Given the description of an element on the screen output the (x, y) to click on. 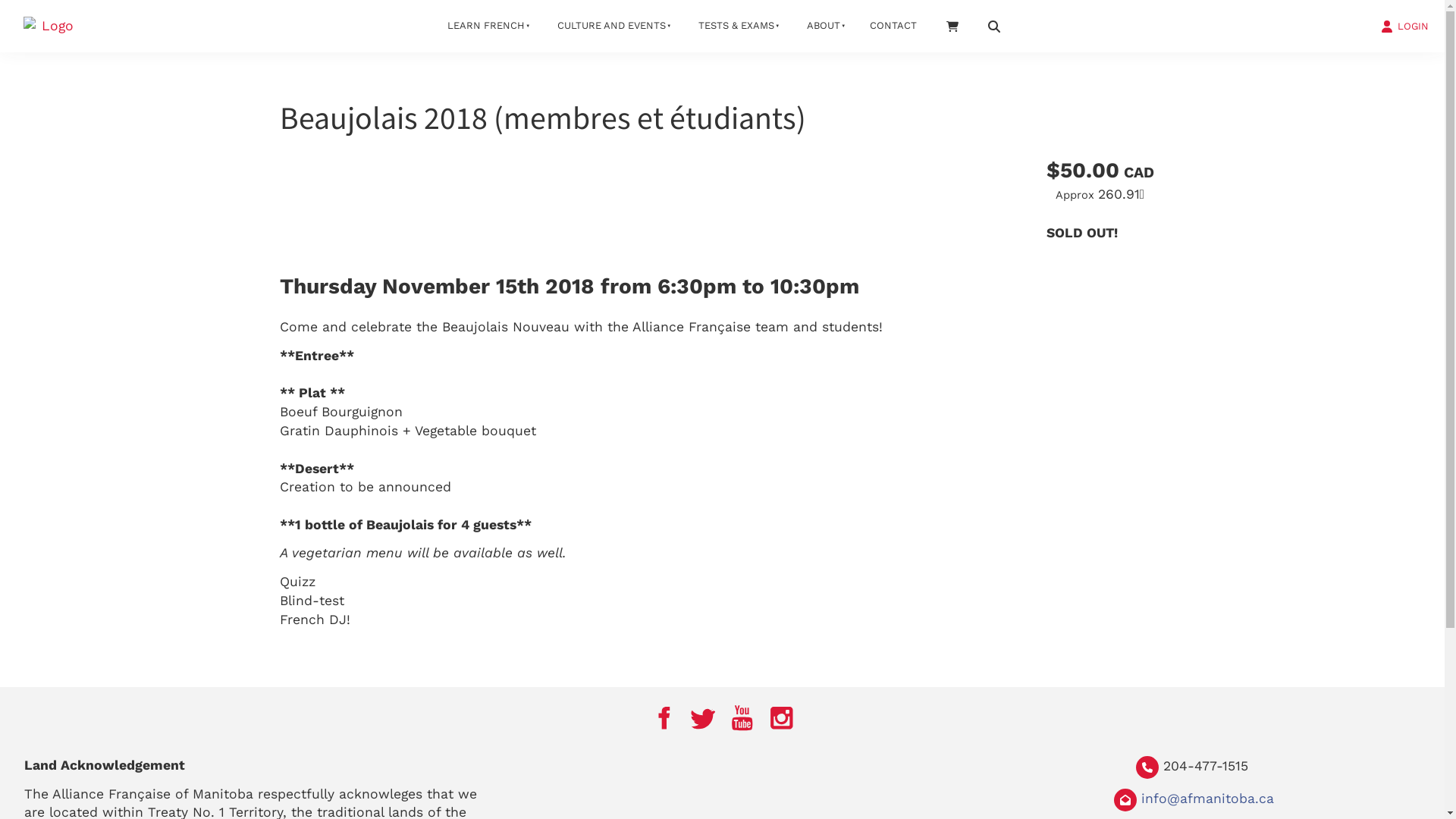
Youtube Element type: hover (742, 718)
ABOUT Element type: text (821, 25)
Instagram Element type: hover (781, 718)
Twitter Element type: hover (702, 718)
Facebook Element type: hover (663, 718)
info@afmanitoba.ca Element type: text (1207, 798)
LOGIN Element type: text (1404, 24)
CULTURE AND EVENTS Element type: text (609, 25)
TESTS & EXAMS Element type: text (734, 25)
LEARN FRENCH Element type: text (484, 25)
CONTACT Element type: text (892, 25)
